Given the description of an element on the screen output the (x, y) to click on. 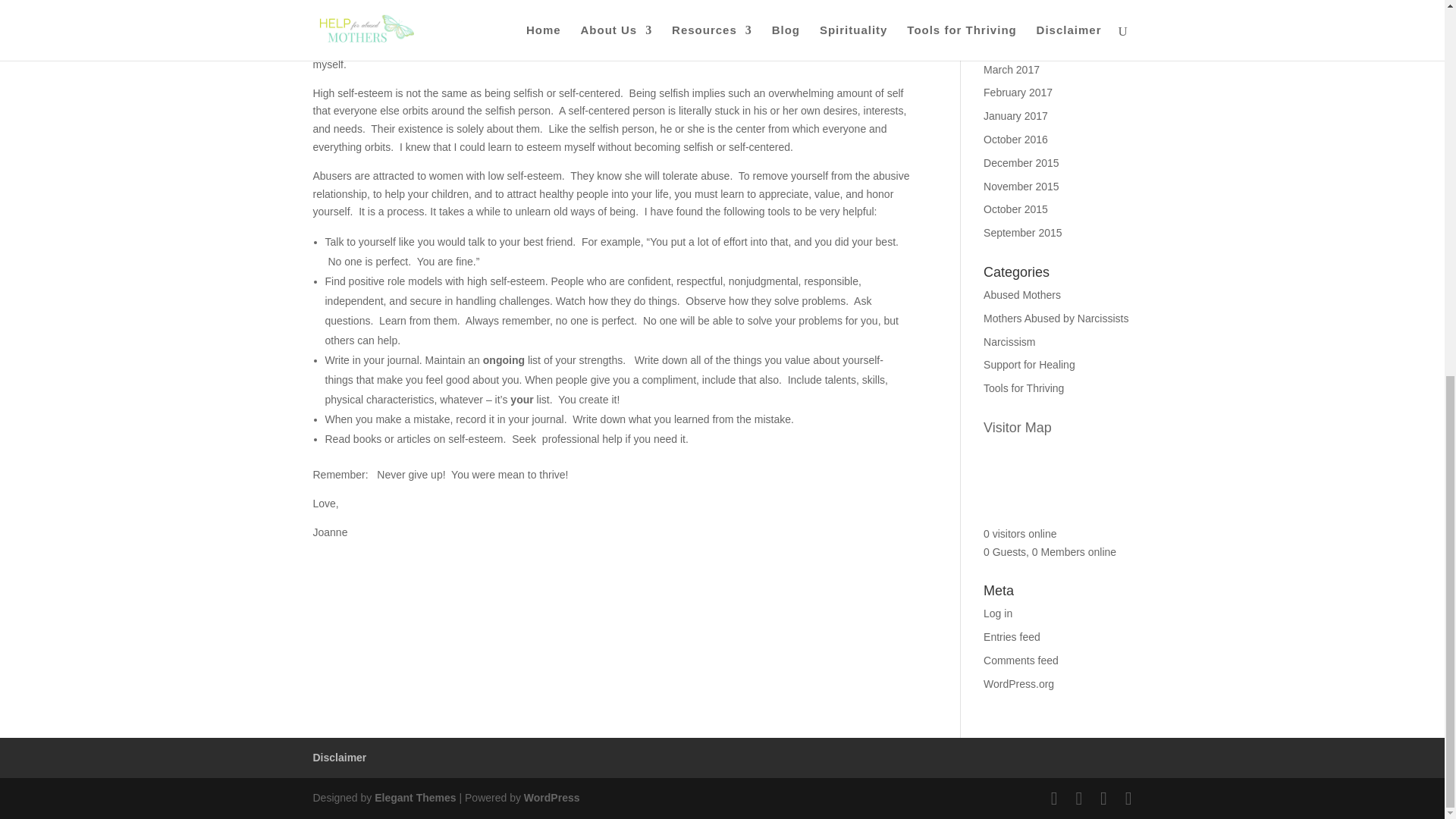
February 2017 (1018, 92)
June 2018 (1008, 2)
April 2017 (1007, 46)
January 2018 (1016, 22)
Premium WordPress Themes (414, 797)
March 2017 (1011, 69)
